Given the description of an element on the screen output the (x, y) to click on. 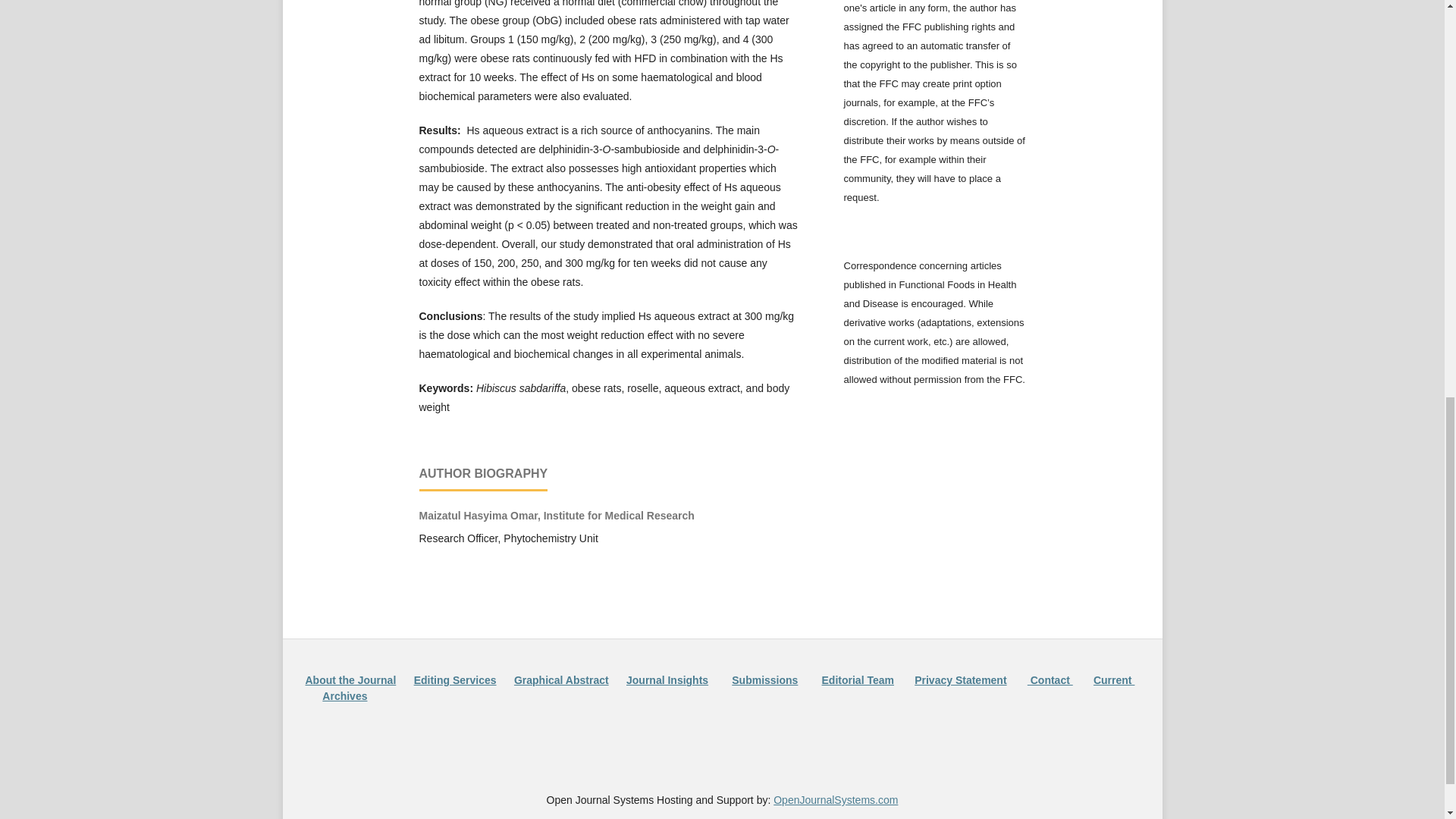
Editing Services (454, 680)
Submissions (764, 680)
About the Journal (350, 680)
Journal Insights (666, 680)
Graphical Abstract (560, 680)
